Given the description of an element on the screen output the (x, y) to click on. 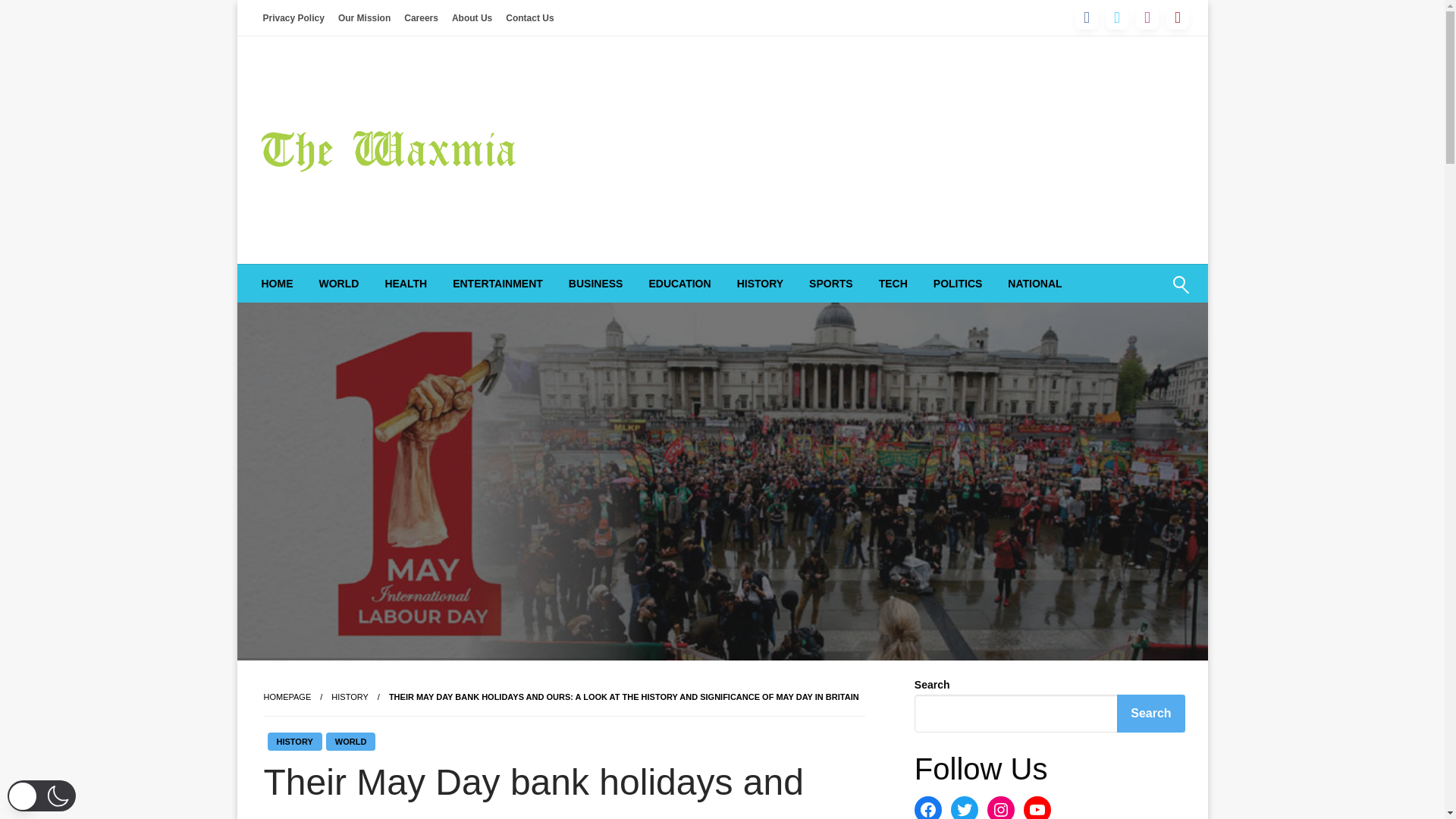
About Us (472, 17)
Careers (421, 17)
Homepage (287, 696)
NATIONAL (1034, 283)
ENTERTAINMENT (497, 283)
WaxMia (310, 215)
SPORTS (831, 283)
TECH (893, 283)
POLITICS (957, 283)
HISTORY (349, 696)
History (349, 696)
Contact Us (529, 17)
WORLD (338, 283)
HOMEPAGE (287, 696)
